Given the description of an element on the screen output the (x, y) to click on. 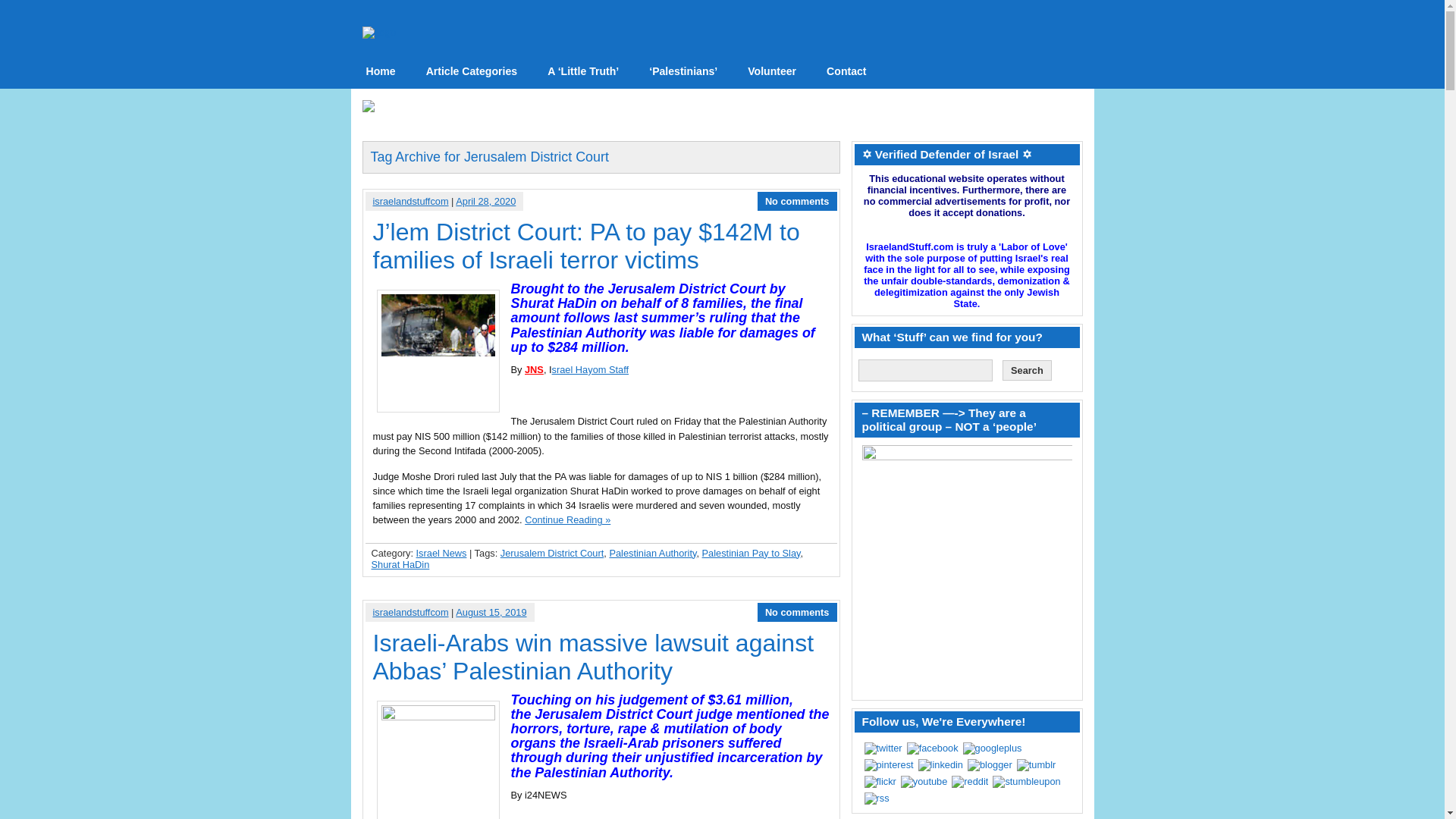
Article Categories (471, 71)
Volunteer (771, 71)
Posts by israelandstuffcom (410, 201)
Home (380, 71)
JNS (533, 369)
April 28, 2020 (485, 201)
Contact (845, 71)
No comments (797, 201)
news (380, 71)
srael Hayom Staff (589, 369)
Search (1027, 370)
Posts by israelandstuffcom (410, 612)
israelandstuffcom (410, 201)
